Given the description of an element on the screen output the (x, y) to click on. 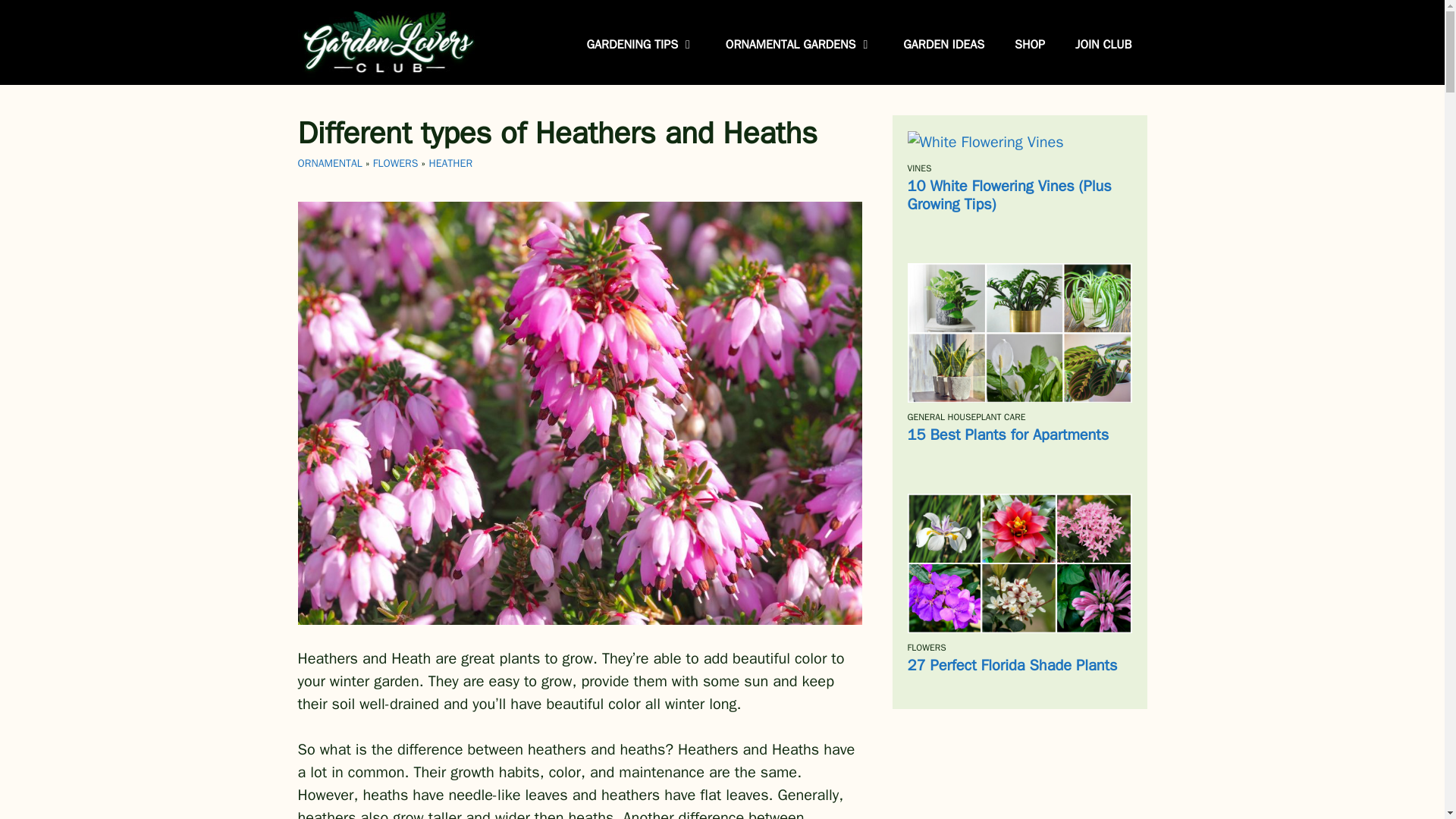
ORNAMENTAL GARDENS (799, 44)
GARDEN IDEAS (943, 44)
SHOP (1028, 44)
JOIN CLUB (1103, 44)
GARDENING TIPS (641, 44)
